Given the description of an element on the screen output the (x, y) to click on. 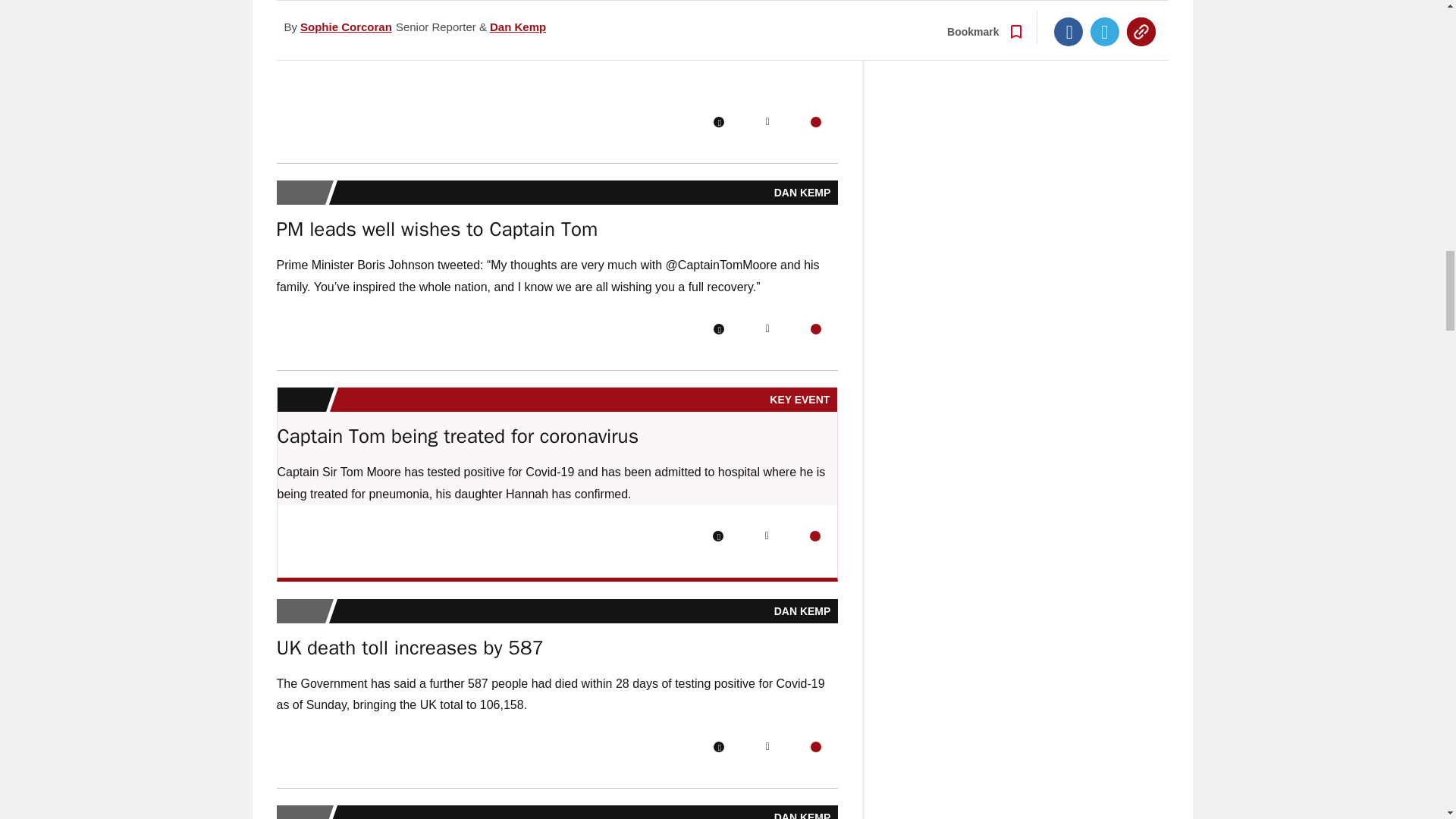
Twitter (766, 535)
Facebook (718, 122)
Twitter (767, 328)
Facebook (718, 328)
Facebook (718, 747)
Facebook (718, 535)
Twitter (767, 122)
